Given the description of an element on the screen output the (x, y) to click on. 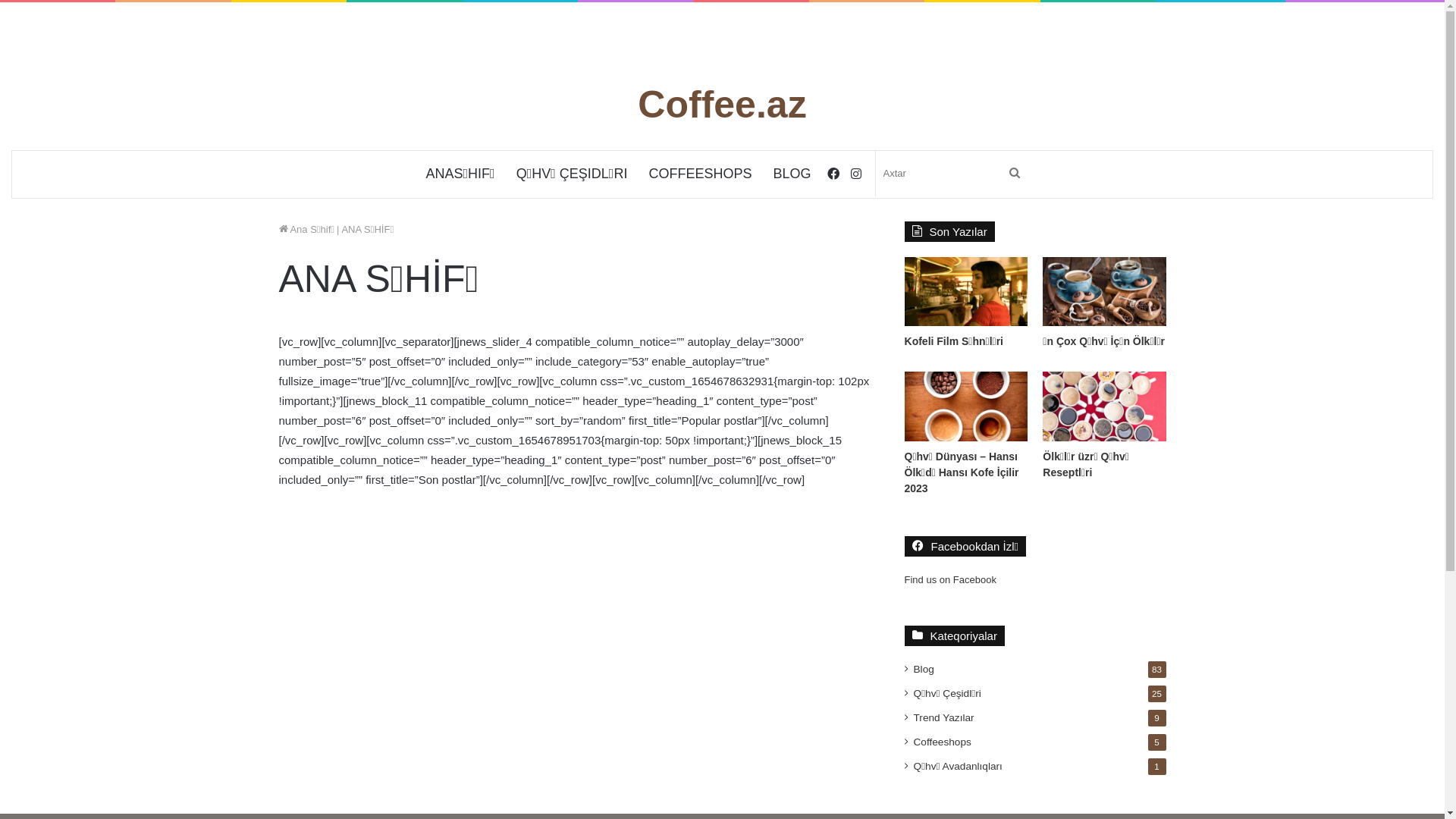
Blog Element type: text (923, 669)
BLOG Element type: text (791, 173)
Axtar Element type: hover (952, 173)
Coffee.az Element type: text (721, 104)
Axtar Element type: text (1014, 173)
COFFEESHOPS Element type: text (699, 173)
Facebook Element type: text (833, 173)
Find us on Facebook Element type: text (950, 579)
Instagram Element type: text (855, 173)
Coffeeshops Element type: text (942, 741)
